Given the description of an element on the screen output the (x, y) to click on. 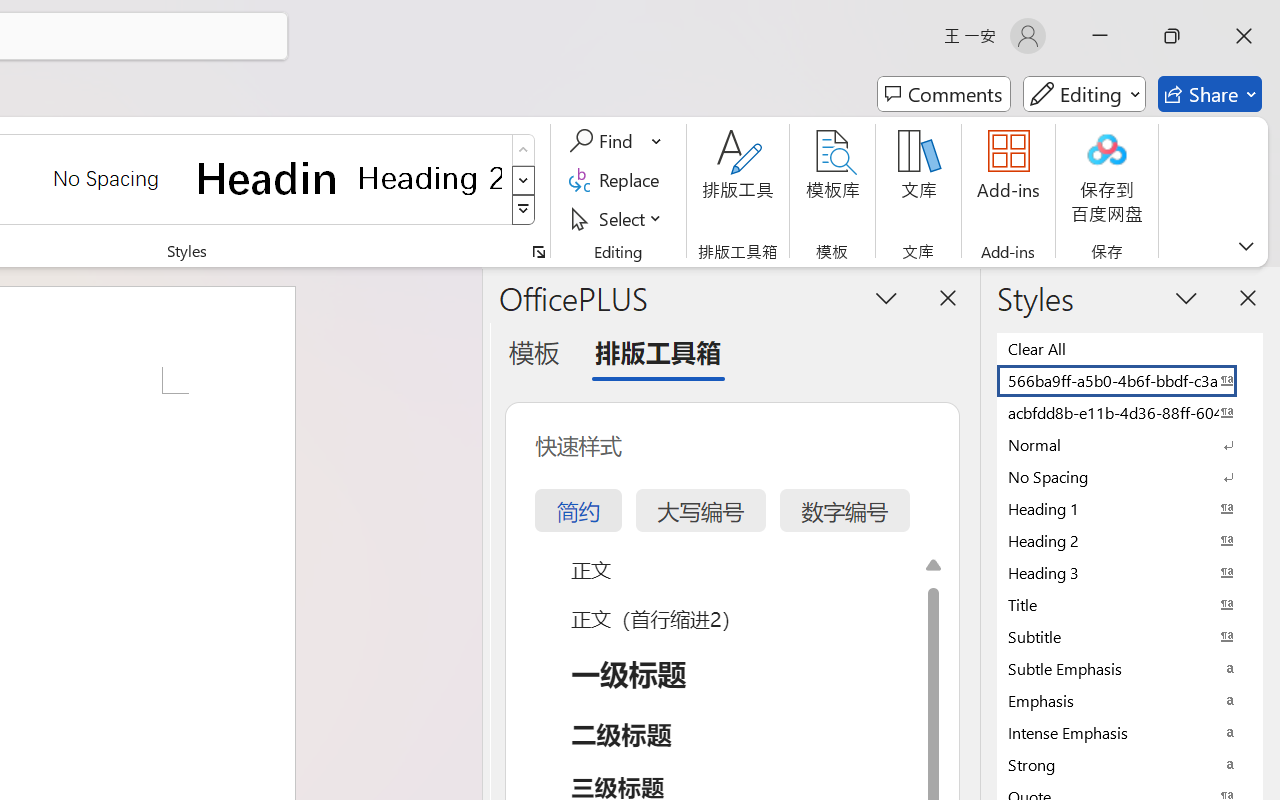
Heading 3 (1130, 572)
Heading 1 (267, 178)
Clear All (1130, 348)
Select (618, 218)
Styles... (538, 252)
Heading 2 (429, 178)
Ribbon Display Options (1246, 245)
Row up (523, 150)
Close (1244, 36)
Class: NetUIImage (523, 210)
